Given the description of an element on the screen output the (x, y) to click on. 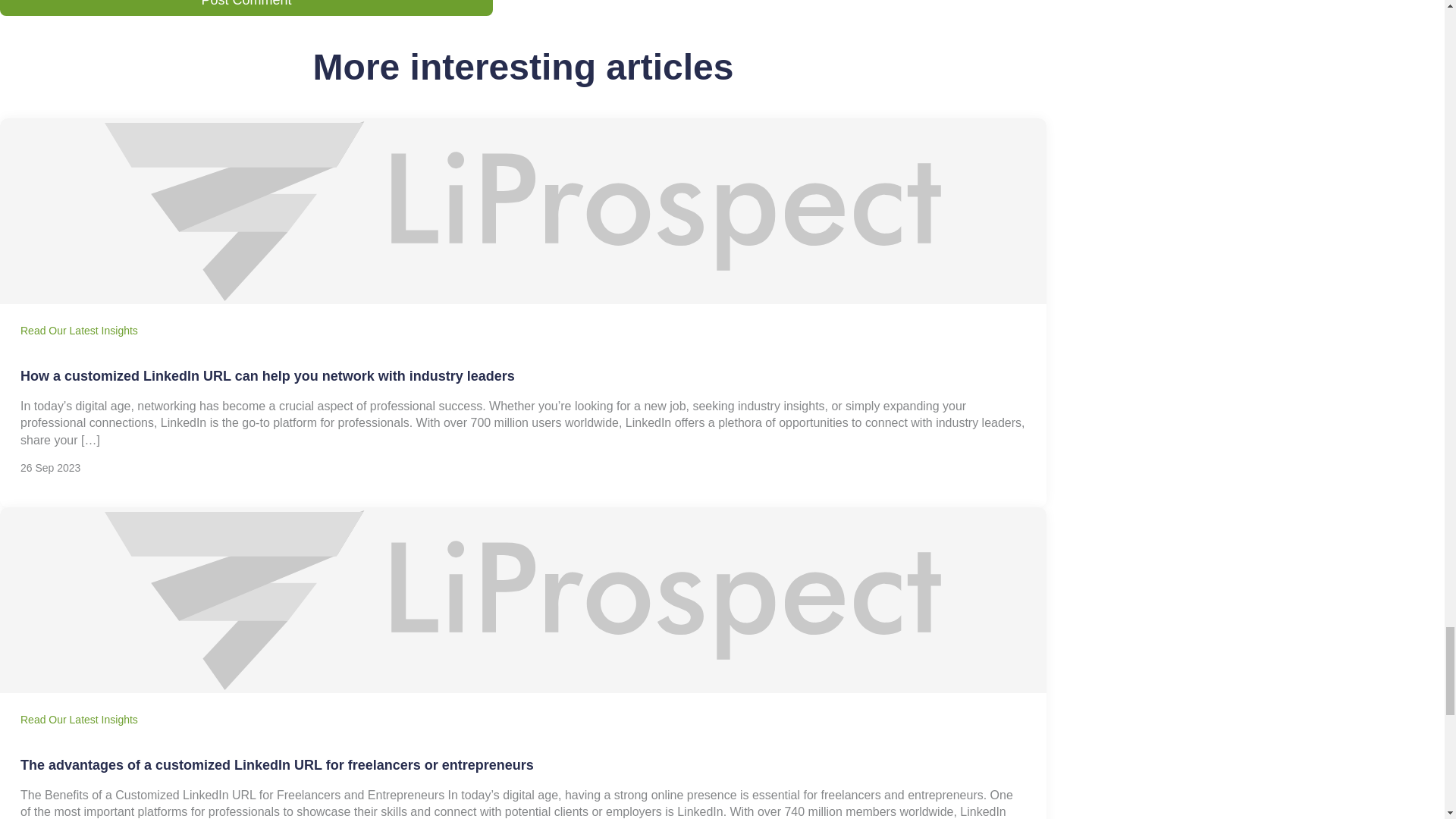
Post Comment (246, 7)
Post Comment (246, 7)
Read Our Latest Insights (79, 719)
Read Our Latest Insights (79, 330)
